Given the description of an element on the screen output the (x, y) to click on. 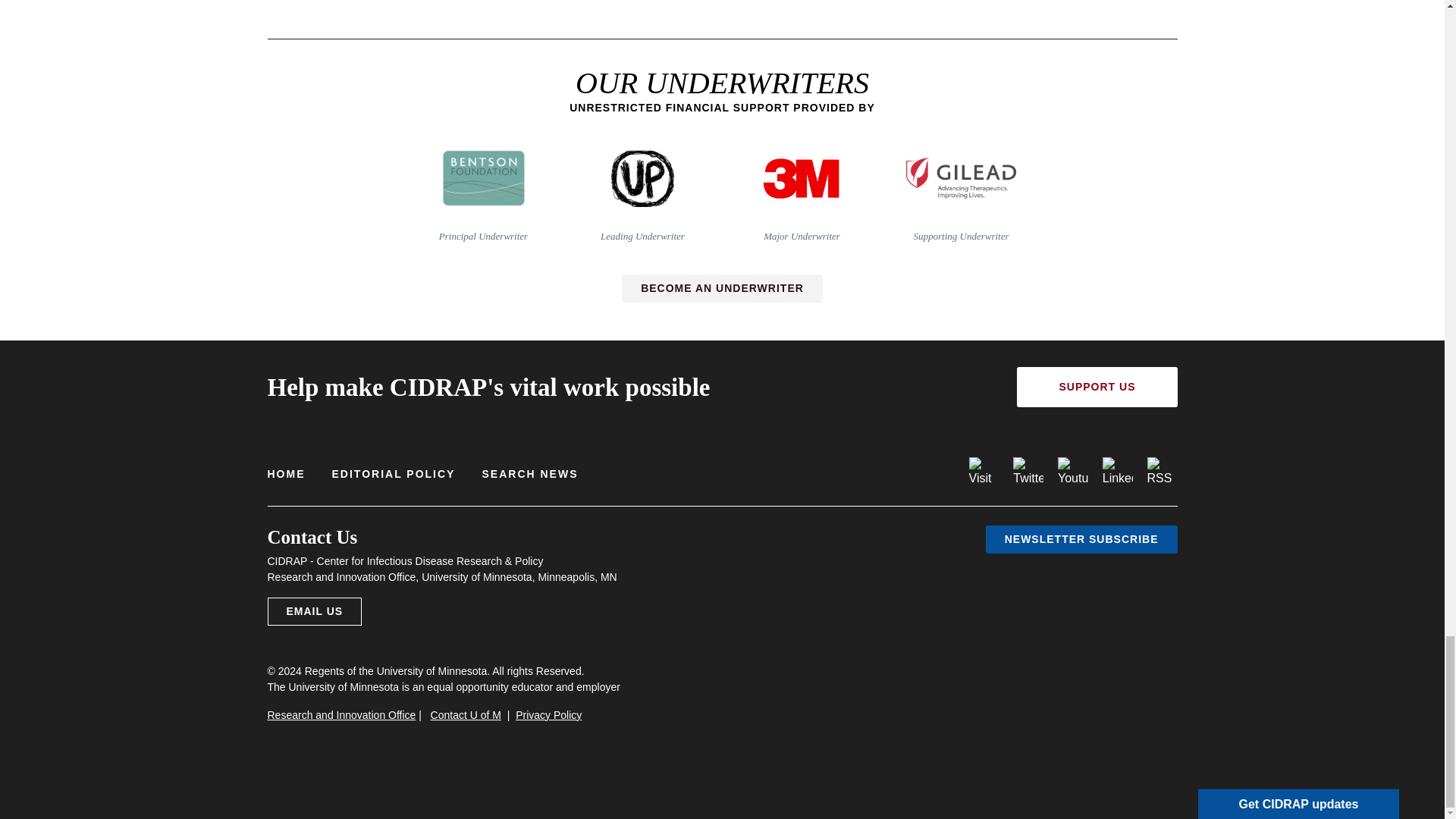
Contact Us (313, 611)
Privacy Policy (547, 715)
